Given the description of an element on the screen output the (x, y) to click on. 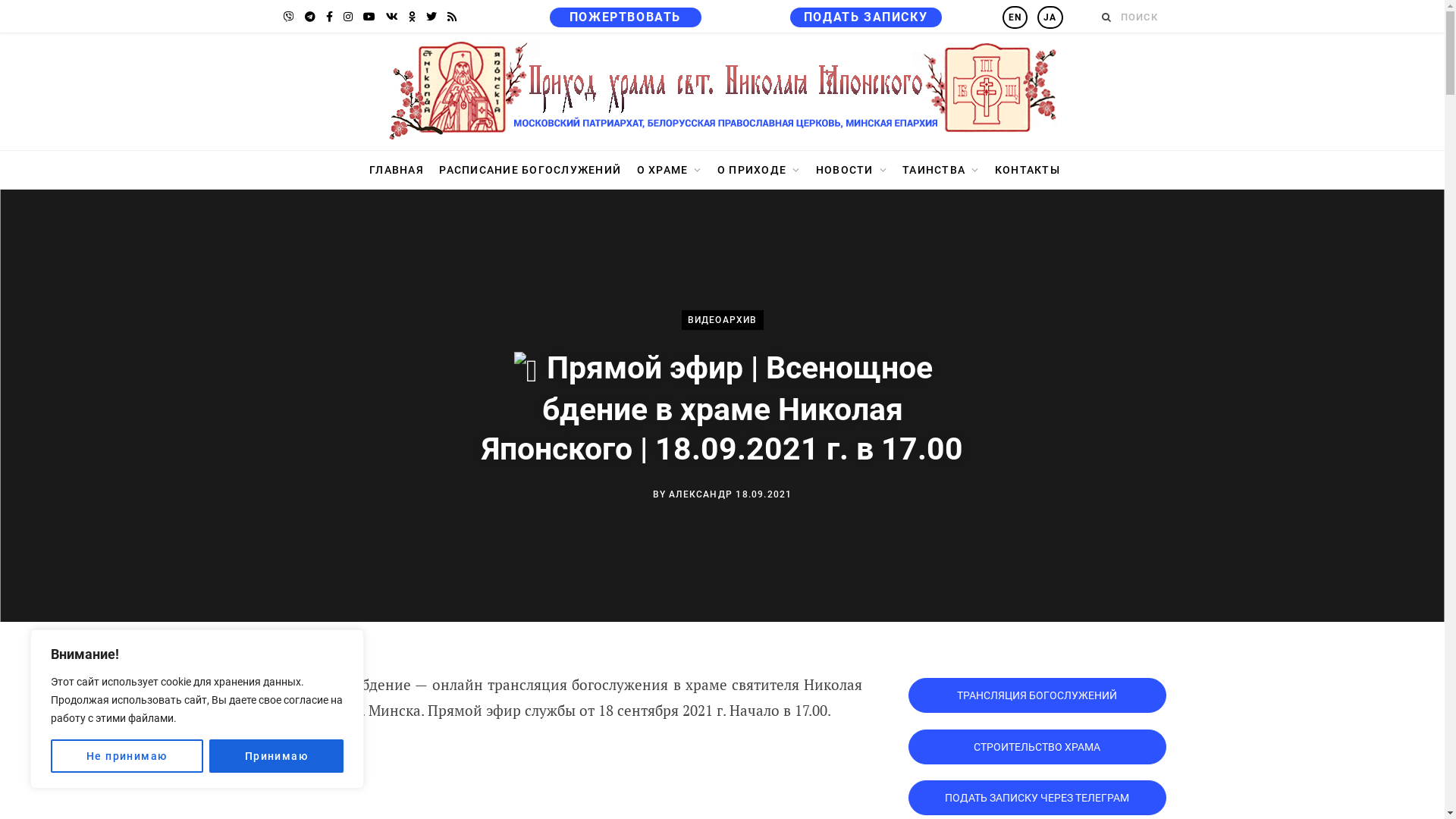
RSS Element type: text (451, 16)
VKontakte Element type: text (390, 16)
Telegram Element type: text (310, 16)
Instagram Element type: text (347, 16)
JA Element type: text (1049, 17)
Last.fm Element type: text (411, 16)
EN Element type: text (1014, 17)
Facebook Element type: text (329, 16)
YouTube Element type: text (368, 16)
Steam Element type: text (288, 16)
X (Twitter) Element type: text (431, 16)
